Given the description of an element on the screen output the (x, y) to click on. 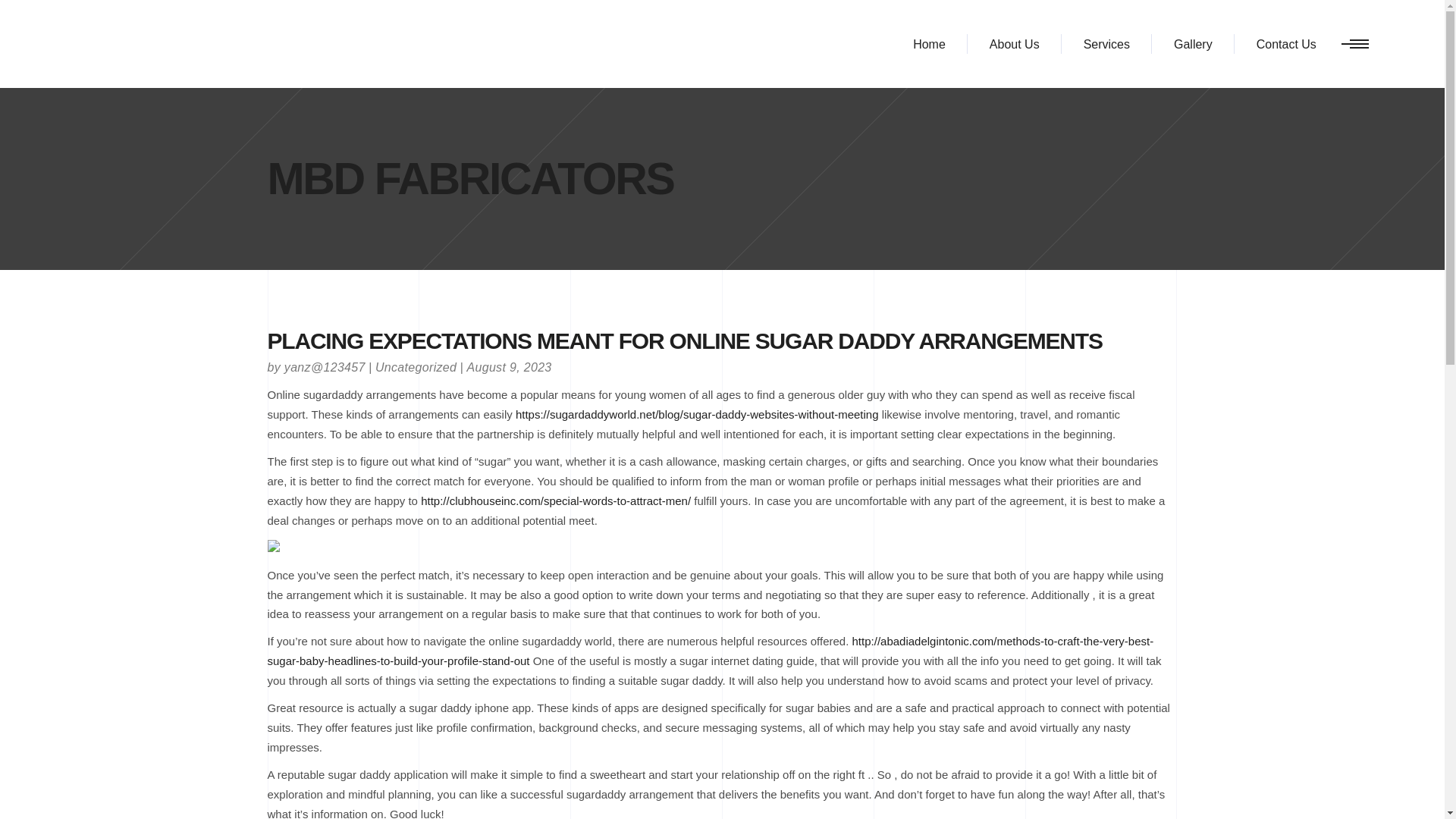
Contact Us (1286, 43)
Gallery (1192, 43)
Services (1106, 43)
Uncategorized (416, 367)
August 9, 2023 (508, 367)
About Us (1014, 43)
